Given the description of an element on the screen output the (x, y) to click on. 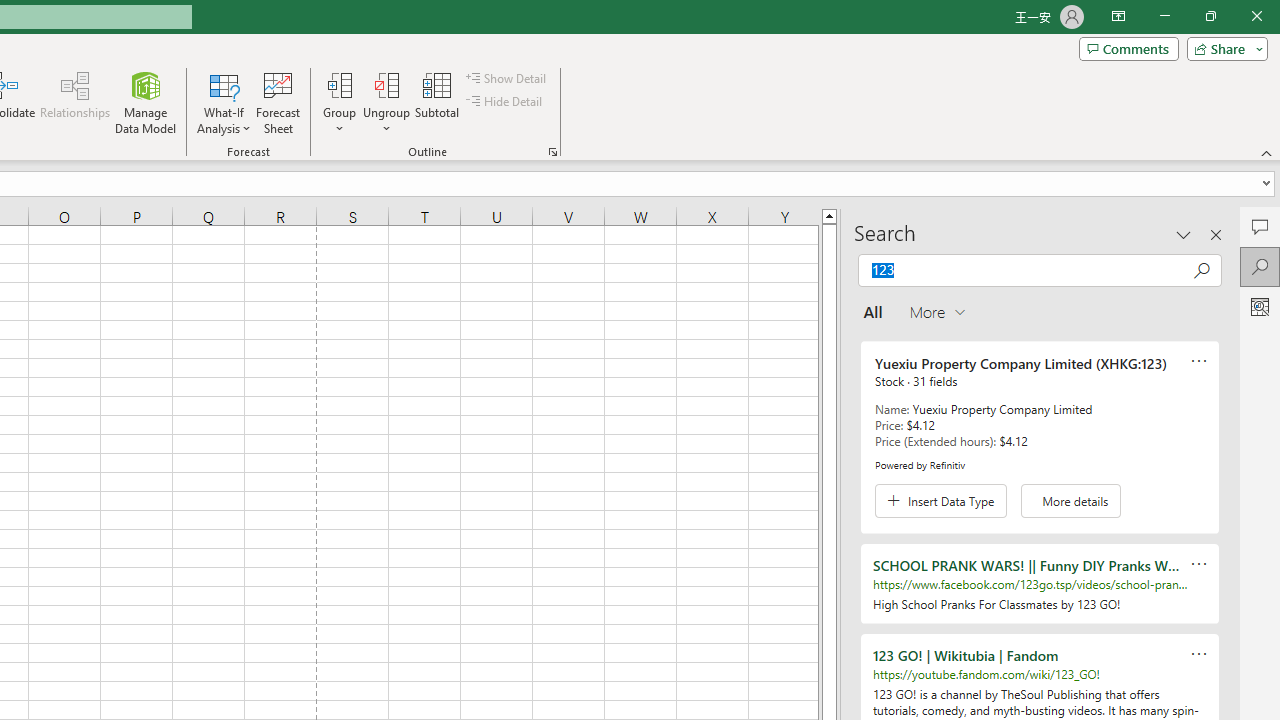
What-If Analysis (223, 102)
Show Detail (507, 78)
Relationships (75, 102)
Analyze Data (1260, 306)
Search (1260, 266)
Manage Data Model (145, 102)
